Given the description of an element on the screen output the (x, y) to click on. 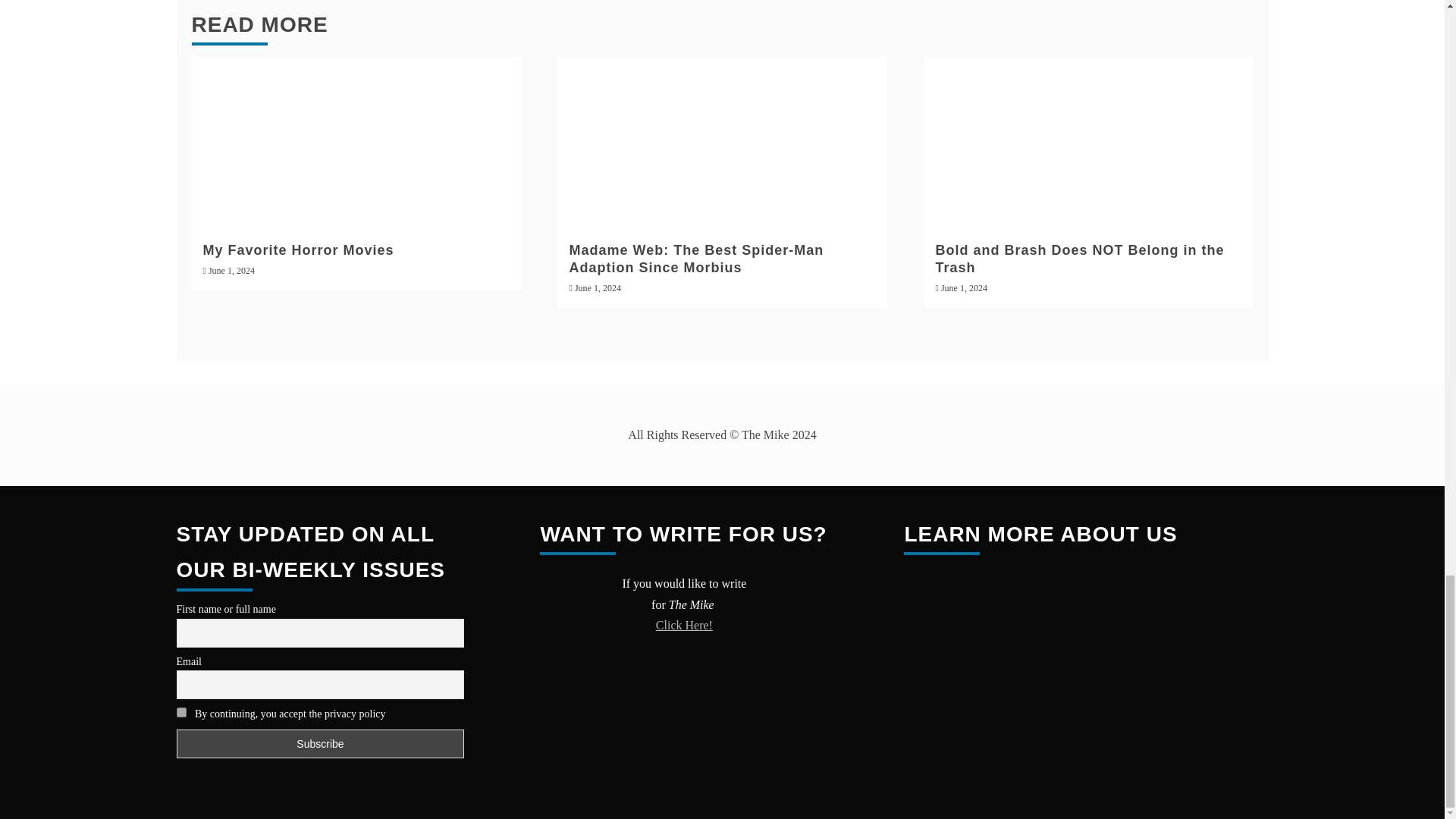
Subscribe (320, 743)
on (181, 712)
